Given the description of an element on the screen output the (x, y) to click on. 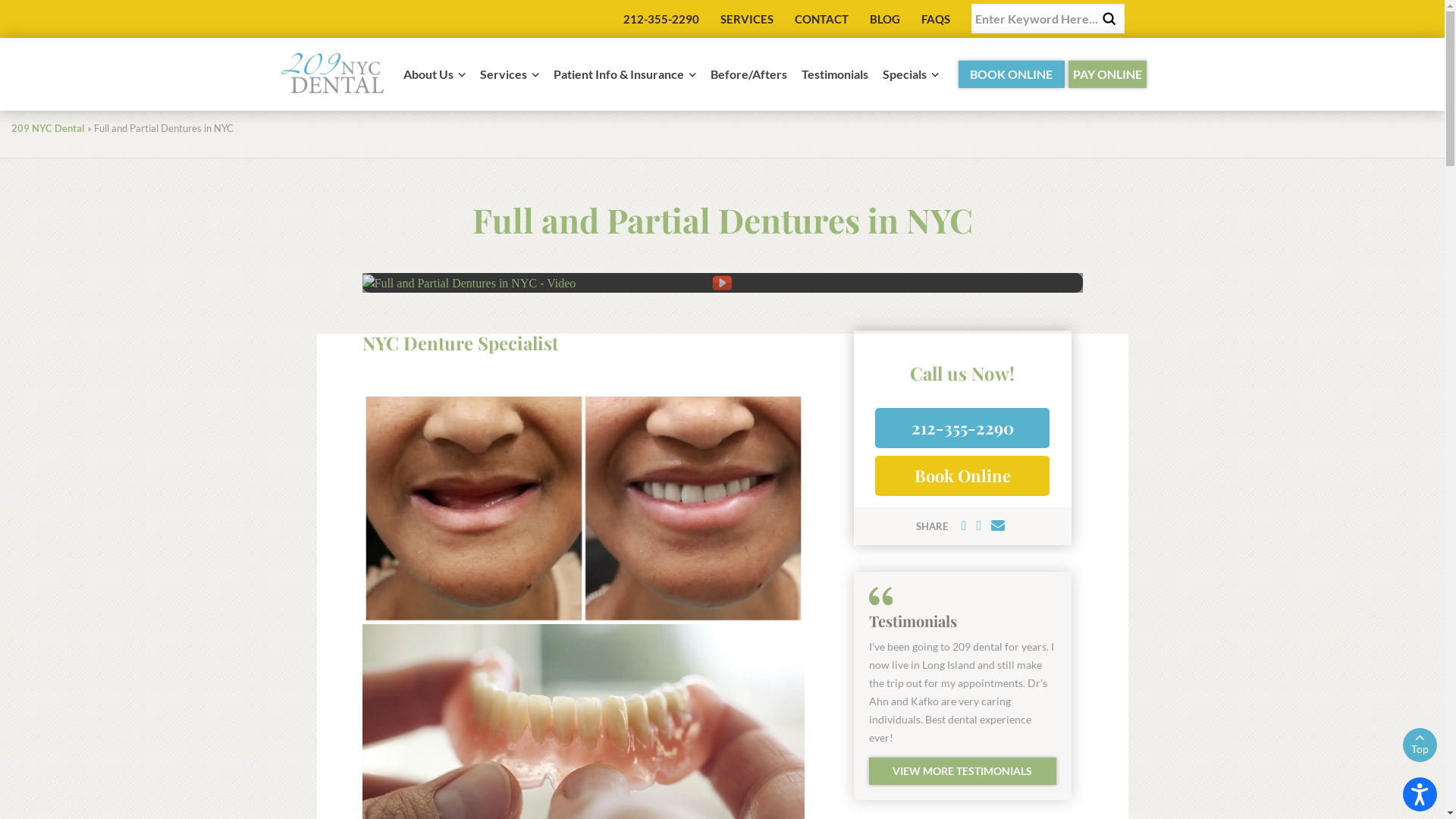
PAY ONLINE Element type: text (1106, 73)
CONTACT Element type: text (821, 18)
Specials Element type: text (910, 77)
Top Element type: text (1419, 745)
FAQS Element type: text (934, 18)
Before/Afters Element type: text (747, 77)
VIEW MORE TESTIMONIALS Element type: text (962, 770)
209 NYC Dental Element type: text (47, 128)
Services Element type: text (508, 77)
212-355-2290 Element type: text (661, 18)
SERVICES Element type: text (746, 18)
209 NYC Dental Element type: text (331, 81)
BLOG Element type: text (884, 18)
BOOK ONLINE Element type: text (1011, 73)
Testimonials Element type: text (833, 77)
212-355-2290 Element type: text (962, 427)
Book Online Element type: text (962, 475)
Patient Info & Insurance Element type: text (624, 77)
About Us Element type: text (434, 77)
